Given the description of an element on the screen output the (x, y) to click on. 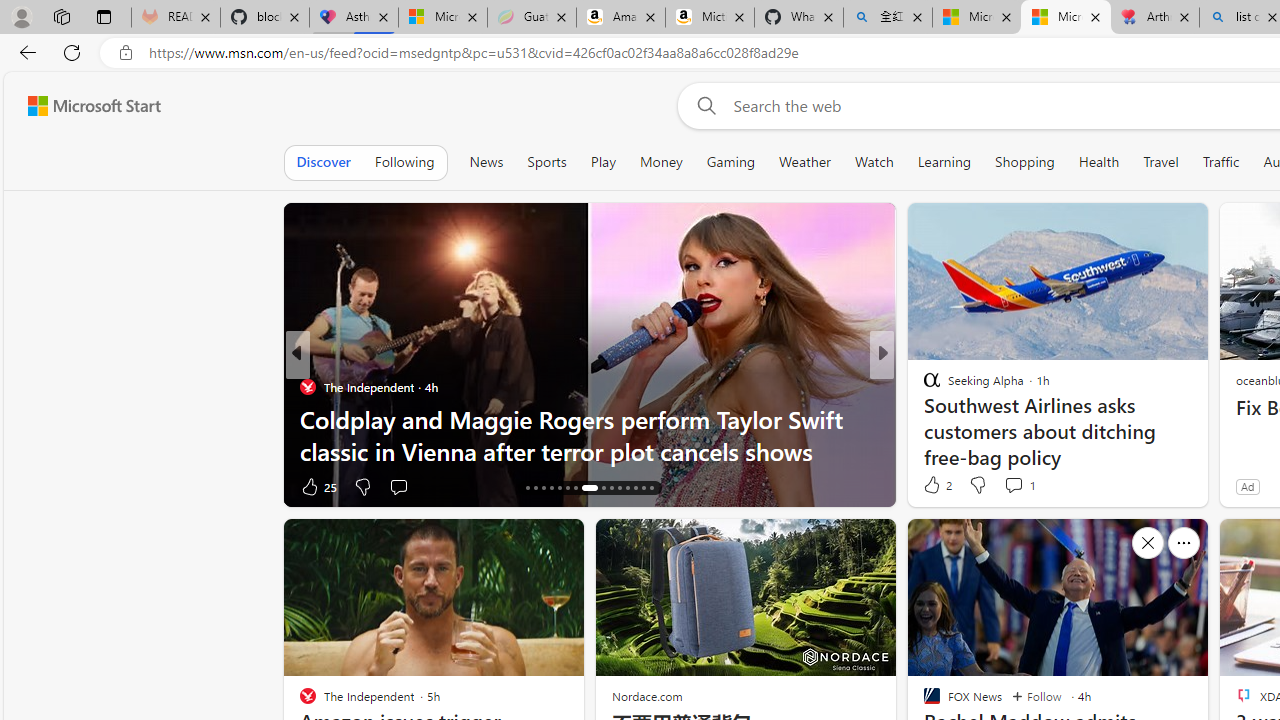
Weather (804, 161)
Web search (702, 105)
View comments 1 Comment (1013, 485)
119 Like (936, 486)
Money (660, 161)
View comments 9 Comment (1019, 486)
Shopping (1025, 161)
News (485, 162)
AutomationID: tab-25 (610, 487)
View comments 25 Comment (407, 486)
